Given the description of an element on the screen output the (x, y) to click on. 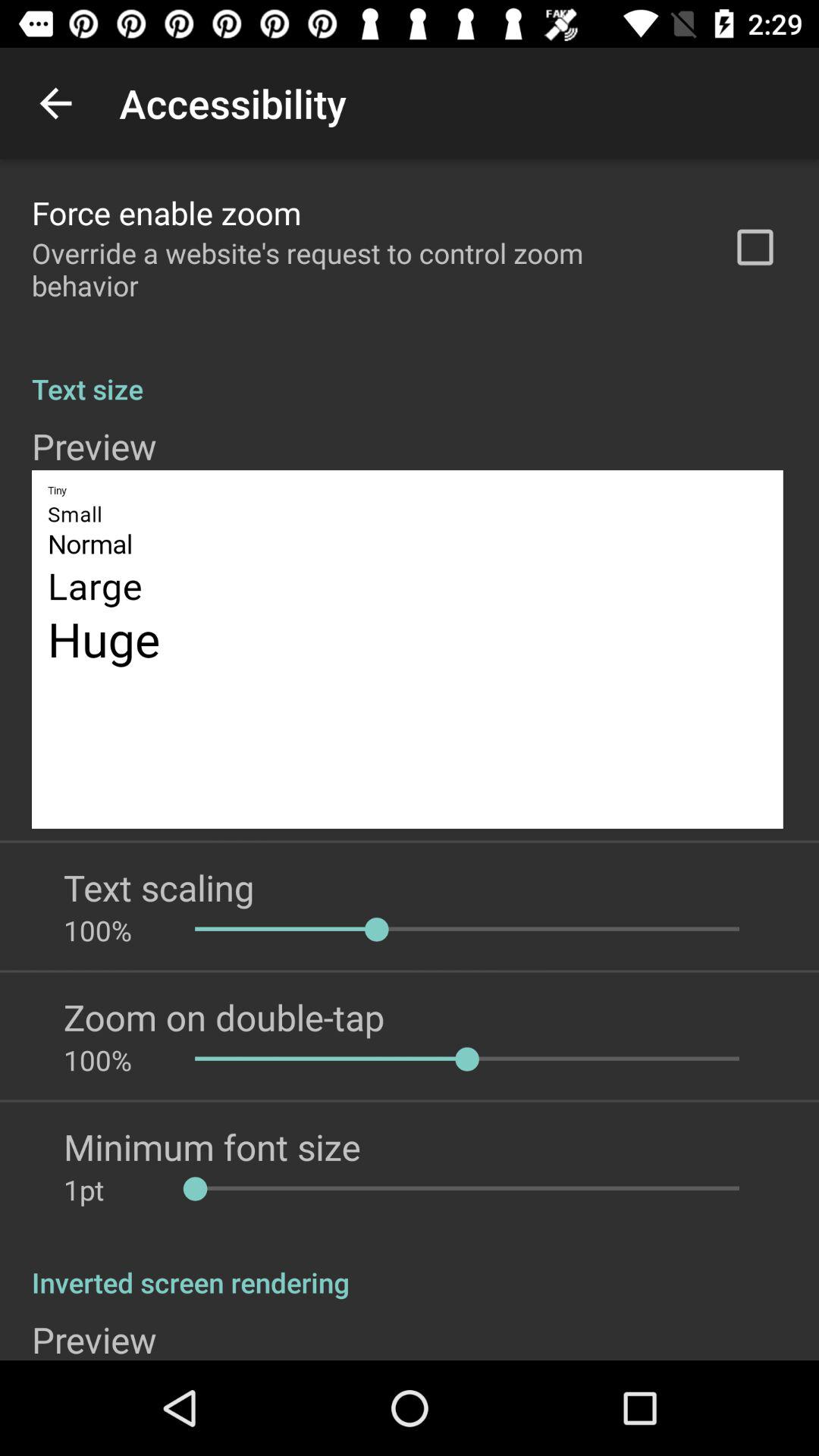
select the box which is beside the force enable zoom (755, 247)
